Given the description of an element on the screen output the (x, y) to click on. 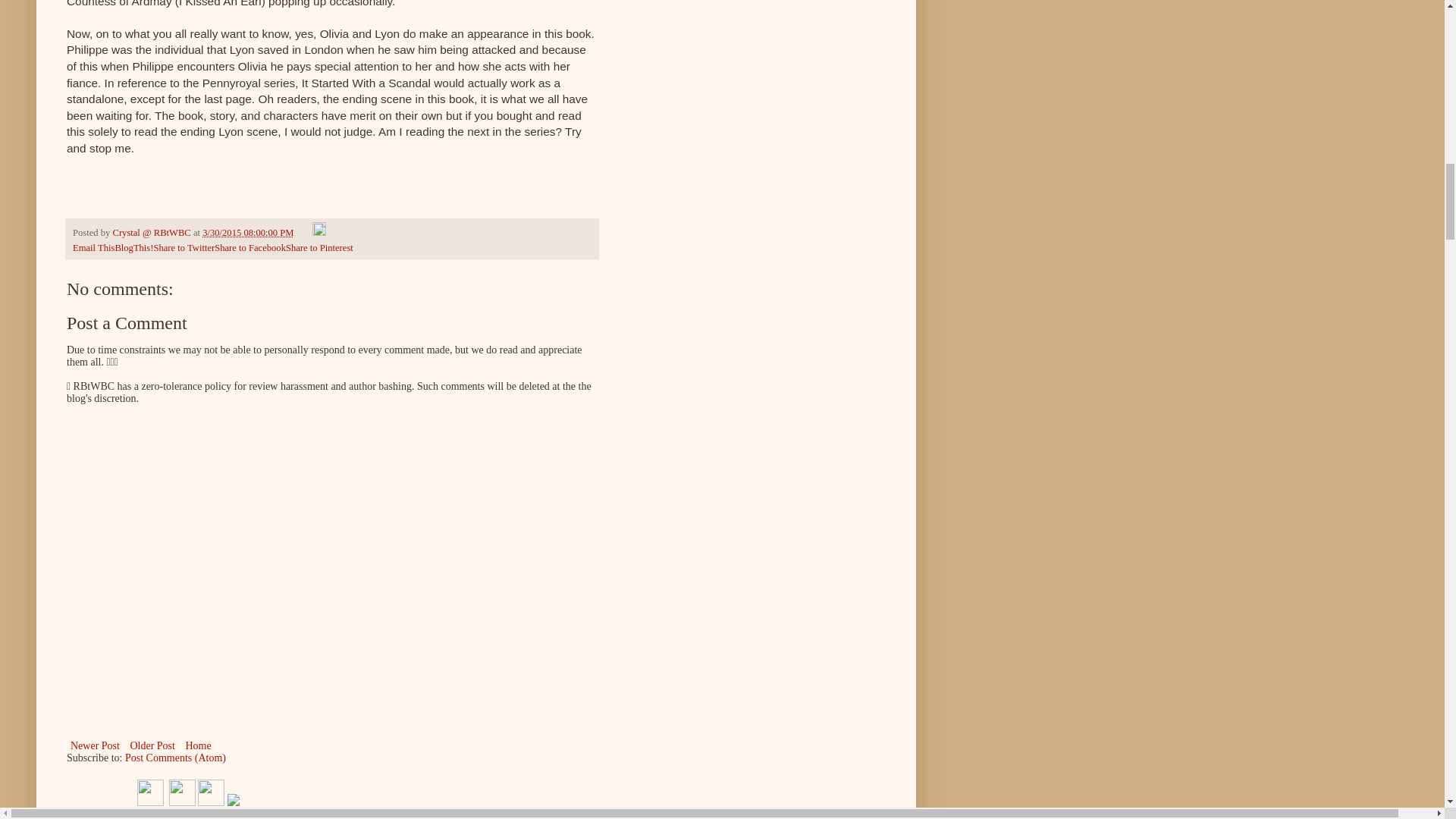
Share to Twitter (183, 247)
Email This (93, 247)
Share to Facebook (249, 247)
Older Post (152, 745)
Home (197, 745)
BlogThis! (133, 247)
Edit Post (319, 232)
permanent link (248, 232)
Newer Post (94, 745)
BlogThis! (133, 247)
Share to Pinterest (319, 247)
Email Post (305, 232)
Share to Facebook (249, 247)
Share to Twitter (183, 247)
author profile (152, 232)
